Given the description of an element on the screen output the (x, y) to click on. 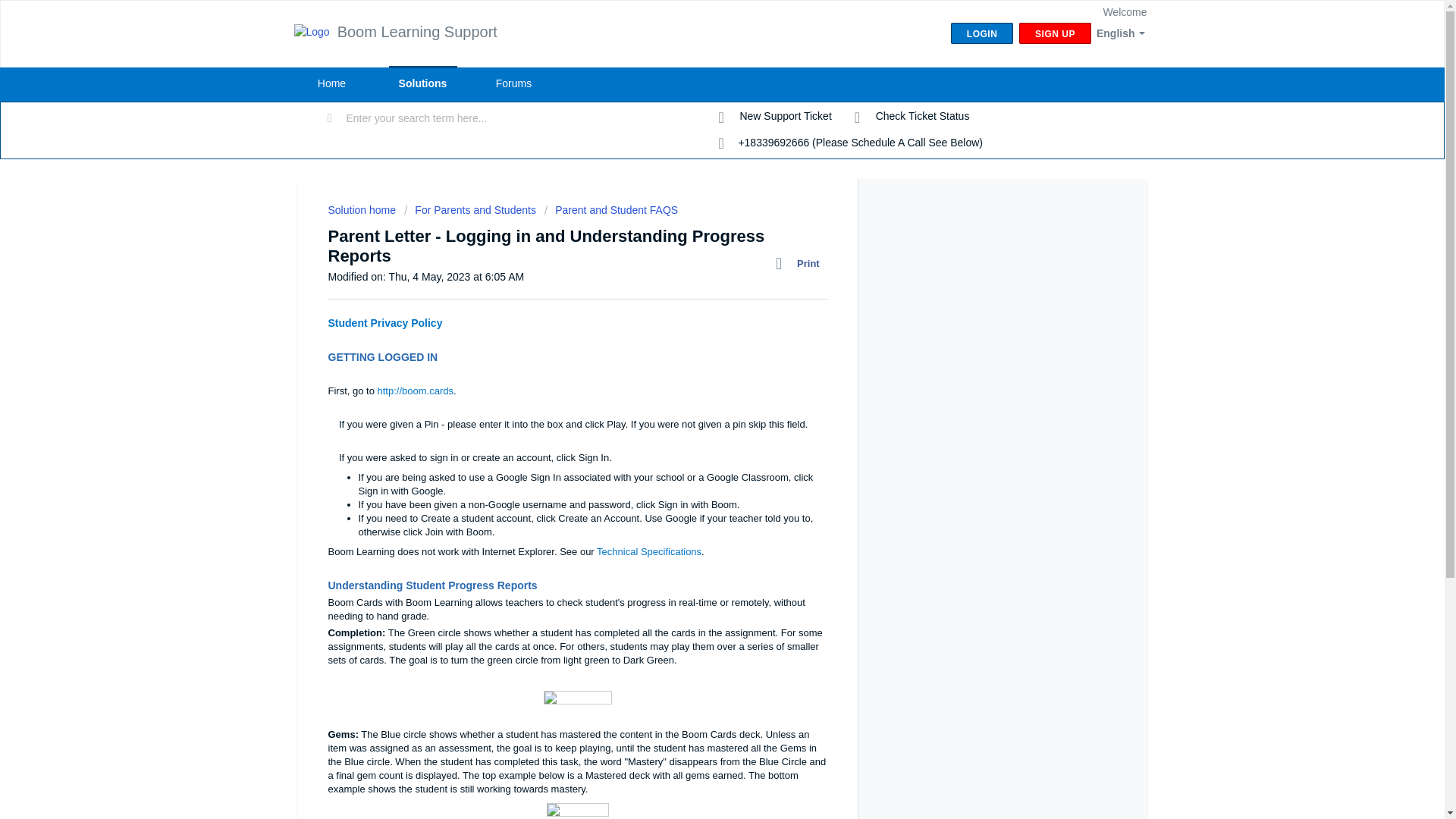
New support ticket (775, 116)
Check Ticket Status (911, 116)
SIGN UP (1054, 33)
Solutions (422, 83)
Home (331, 83)
Print (801, 263)
Check ticket status (911, 116)
Student Privacy Policy (384, 322)
For Parents and Students (469, 209)
Parent and Student FAQS (611, 209)
